Given the description of an element on the screen output the (x, y) to click on. 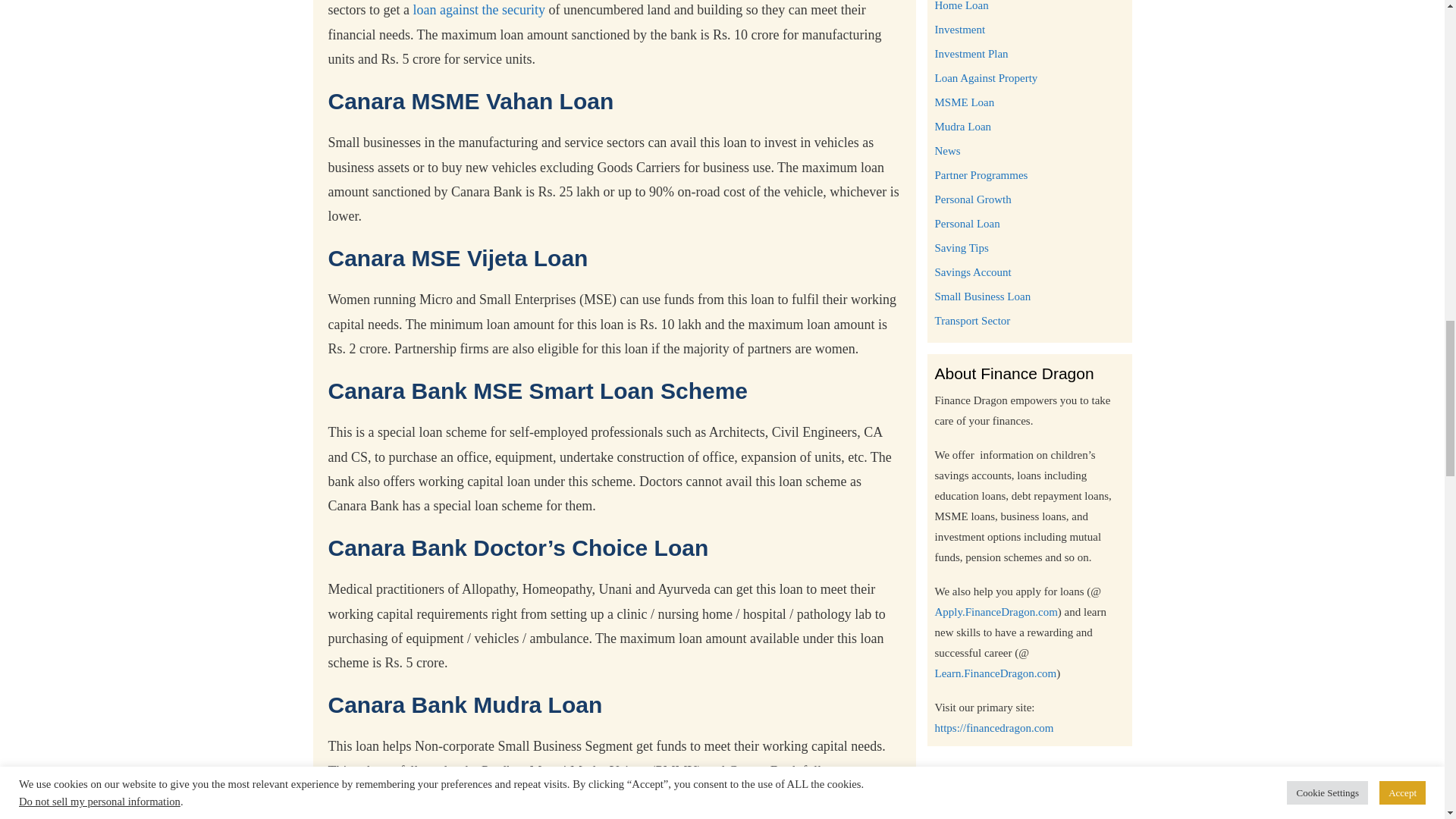
loan against the security (478, 9)
